Given the description of an element on the screen output the (x, y) to click on. 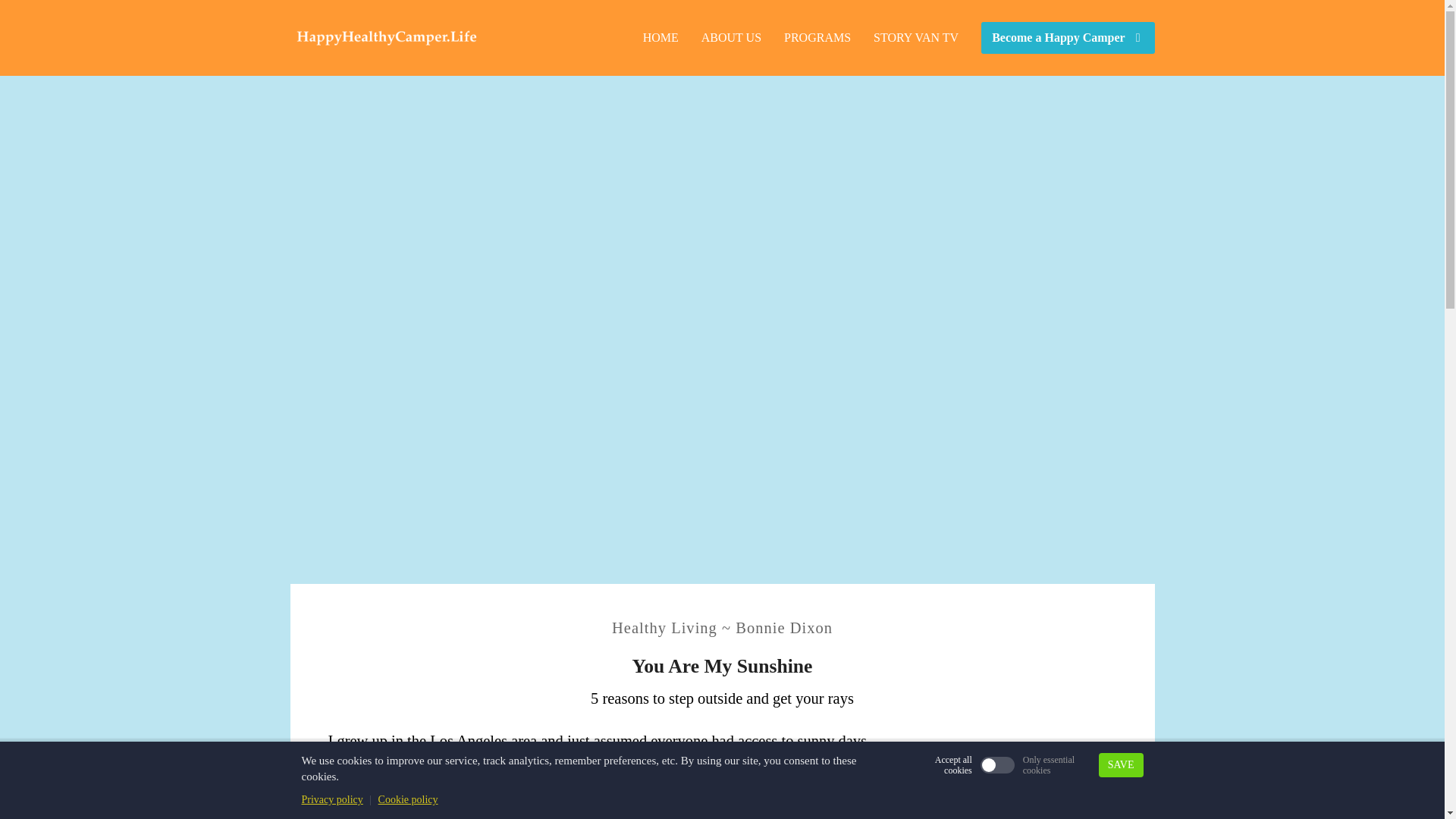
Become a Happy Camper (1067, 38)
ABOUT US (731, 37)
Privacy policy (331, 799)
SAVE (1120, 764)
HOME (660, 37)
PROGRAMS (817, 37)
STORY VAN TV (915, 37)
Cookie policy (408, 799)
